Given the description of an element on the screen output the (x, y) to click on. 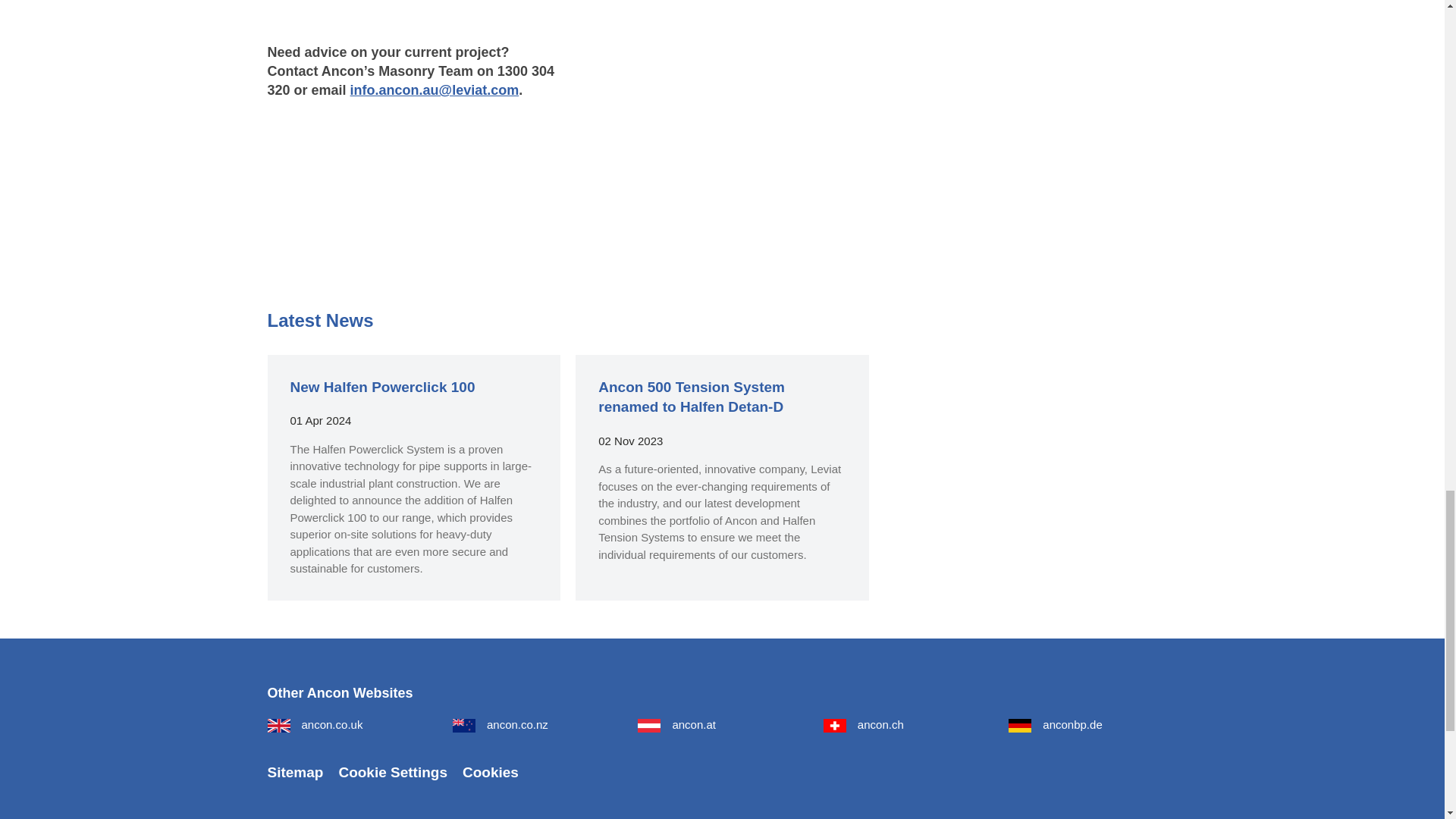
Ancon 500 Tension System renamed to Halfen Detan-D (691, 397)
Latest News (319, 320)
ancon.co.uk (314, 724)
ancon.at (676, 724)
ancon.co.nz (500, 724)
New Halfen Powerclick 100 (381, 386)
